Given the description of an element on the screen output the (x, y) to click on. 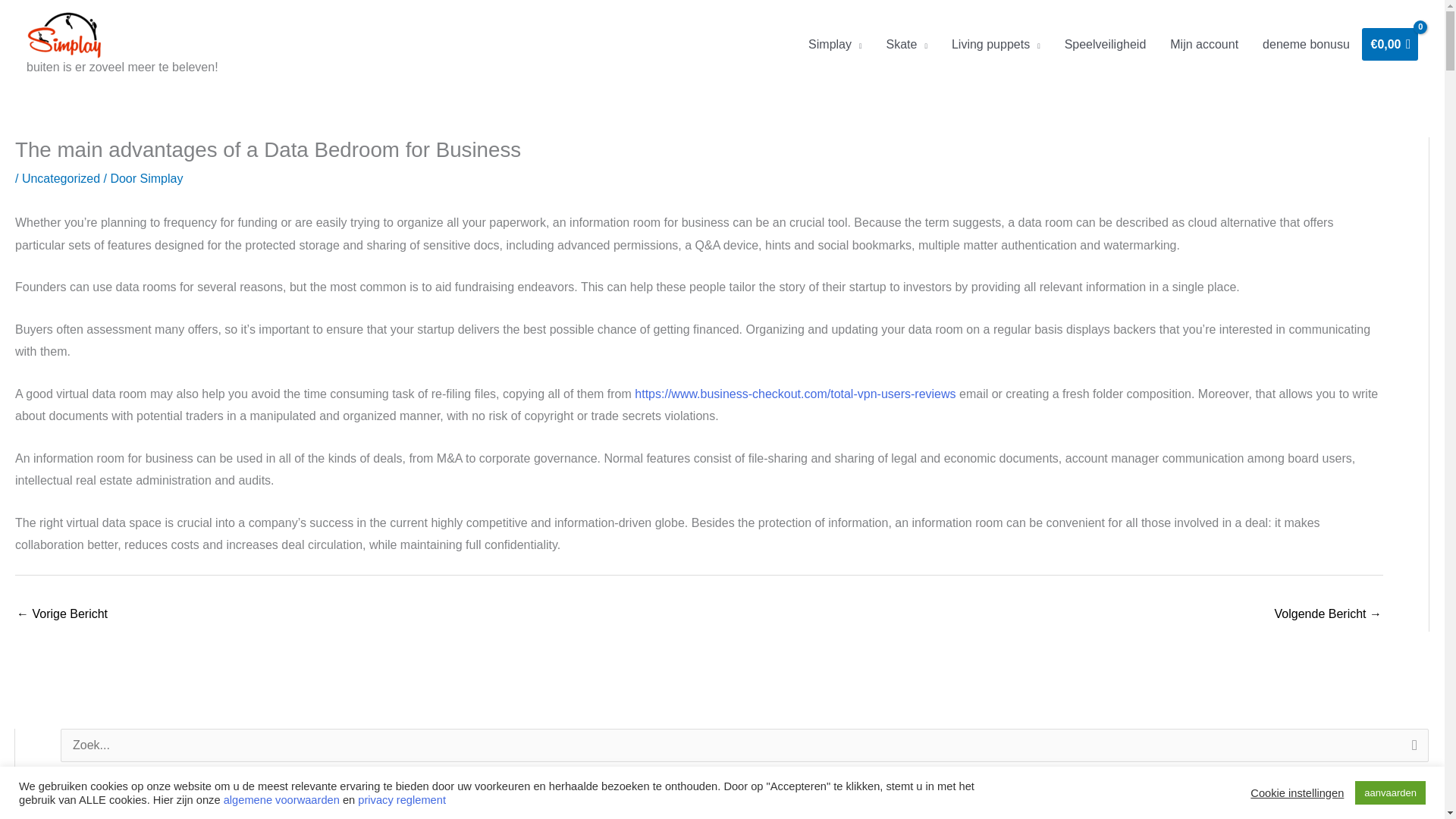
Speelveiligheid (1105, 44)
Mijn account (1203, 44)
Living puppets (995, 44)
Bekijk alle berichten van Simplay (161, 178)
Pinup Cassino Online No Brasil Slot Machines Licenciado (61, 615)
deneme bonusu (1305, 44)
